Given the description of an element on the screen output the (x, y) to click on. 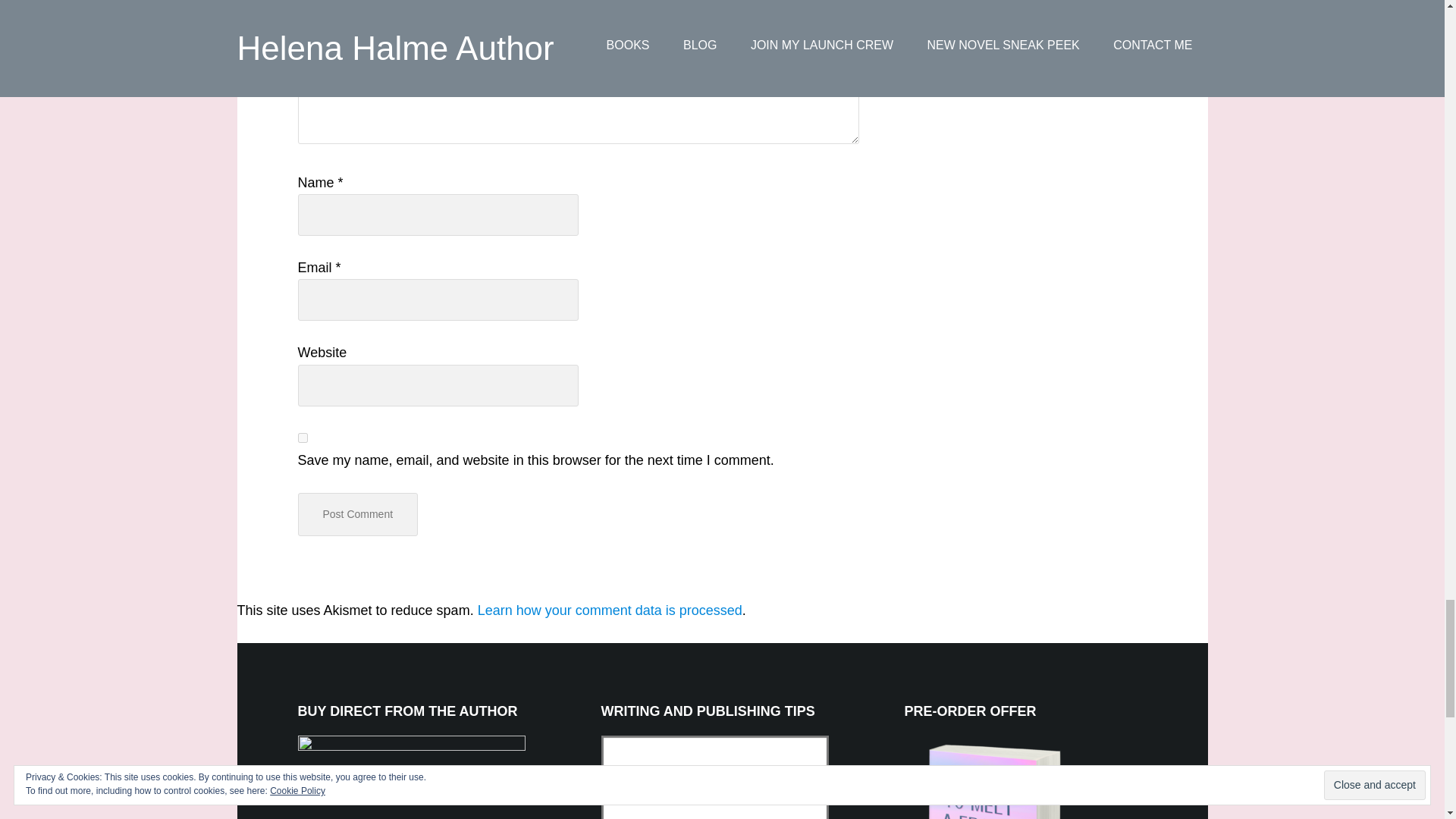
Learn how your comment data is processed (609, 610)
Post Comment (357, 514)
yes (302, 438)
Post Comment (357, 514)
